Given the description of an element on the screen output the (x, y) to click on. 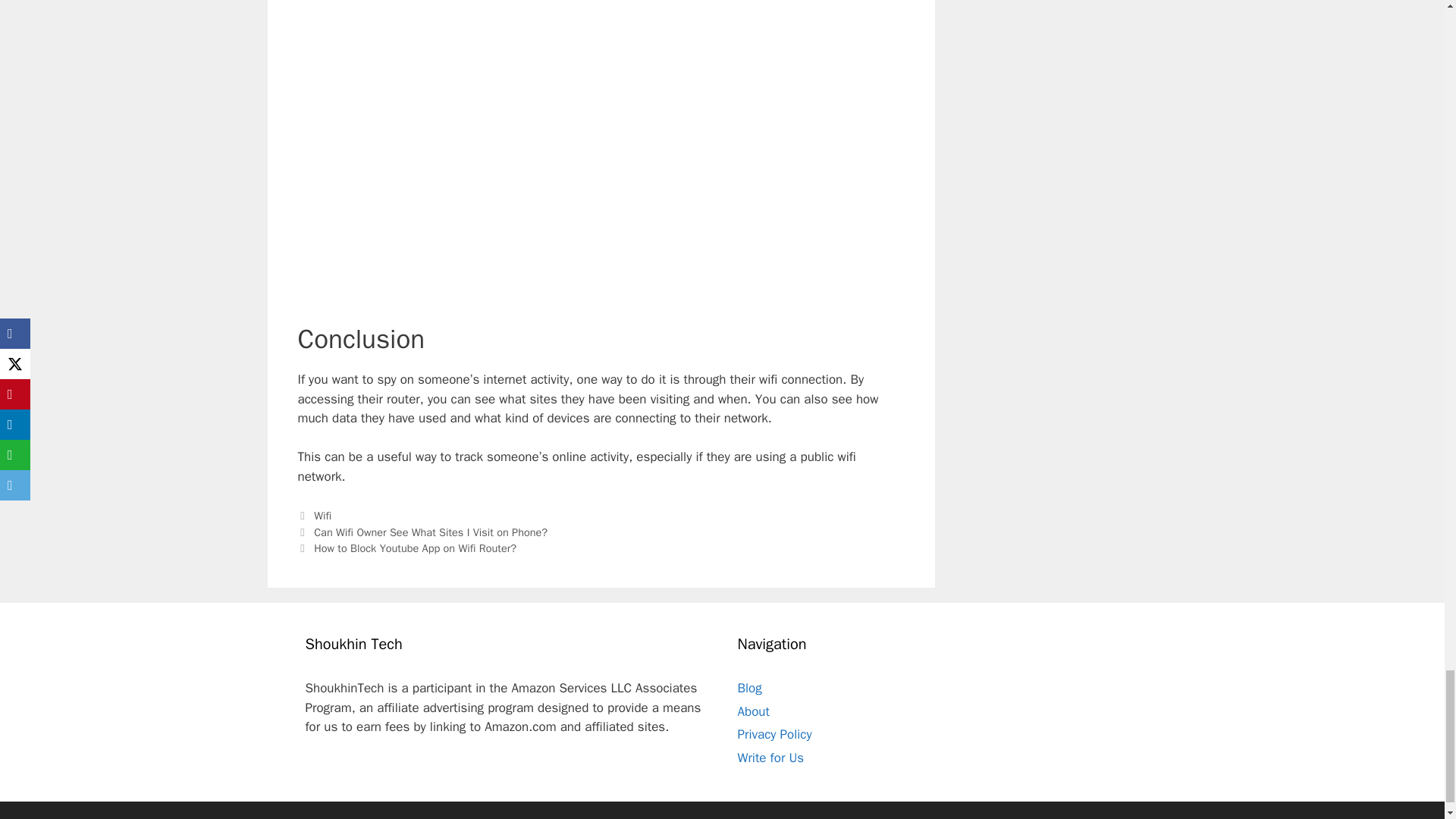
Wifi (322, 515)
How to Block Youtube App on Wifi Router? (415, 548)
Can Wifi Owner See What Sites I Visit on Phone? (430, 531)
